Given the description of an element on the screen output the (x, y) to click on. 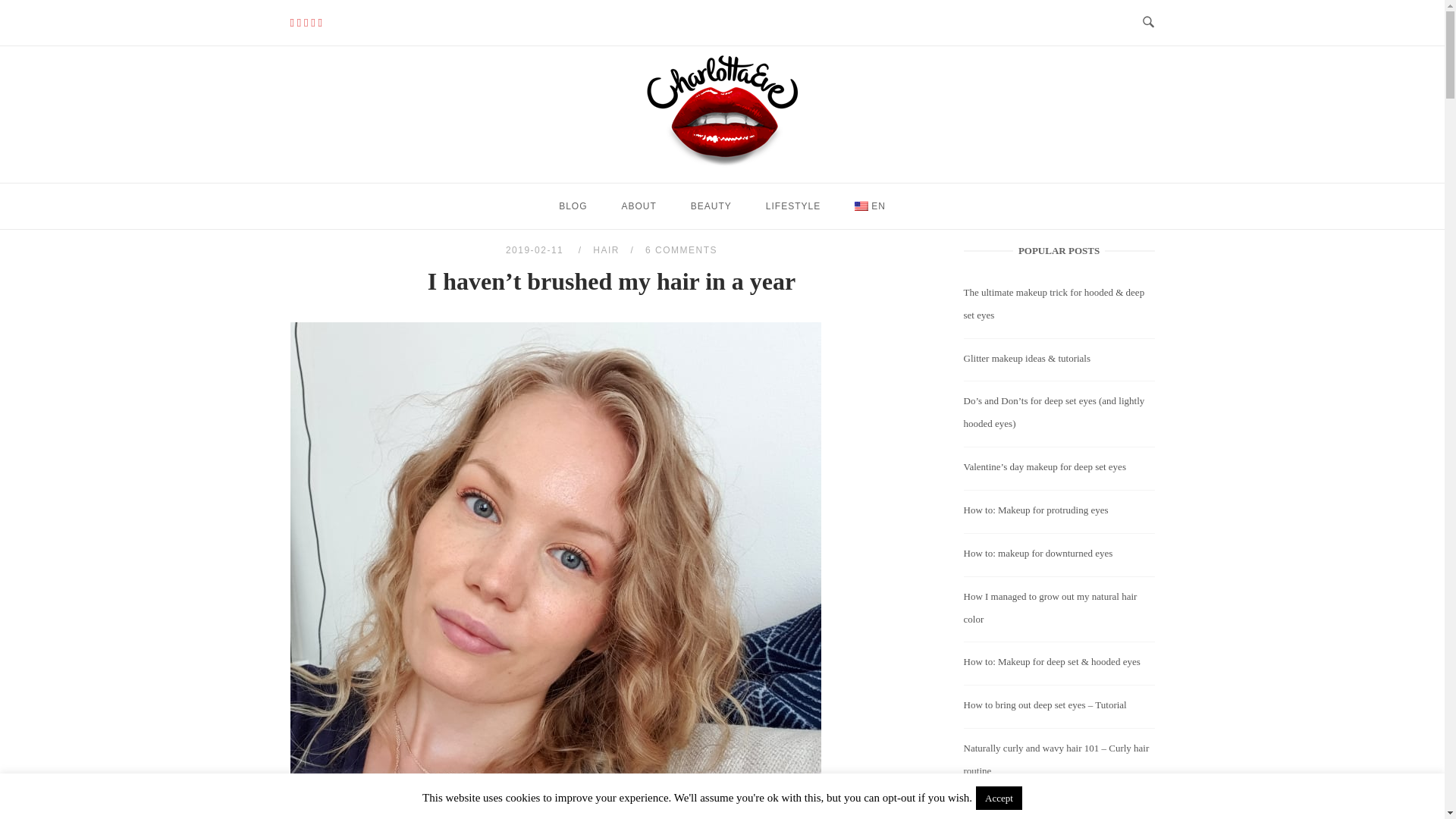
BLOG (572, 206)
6 COMMENTS (681, 249)
HAIR (606, 249)
ABOUT (638, 206)
LIFESTYLE (792, 206)
BEAUTY (710, 206)
EN (869, 206)
Home (722, 163)
